Given the description of an element on the screen output the (x, y) to click on. 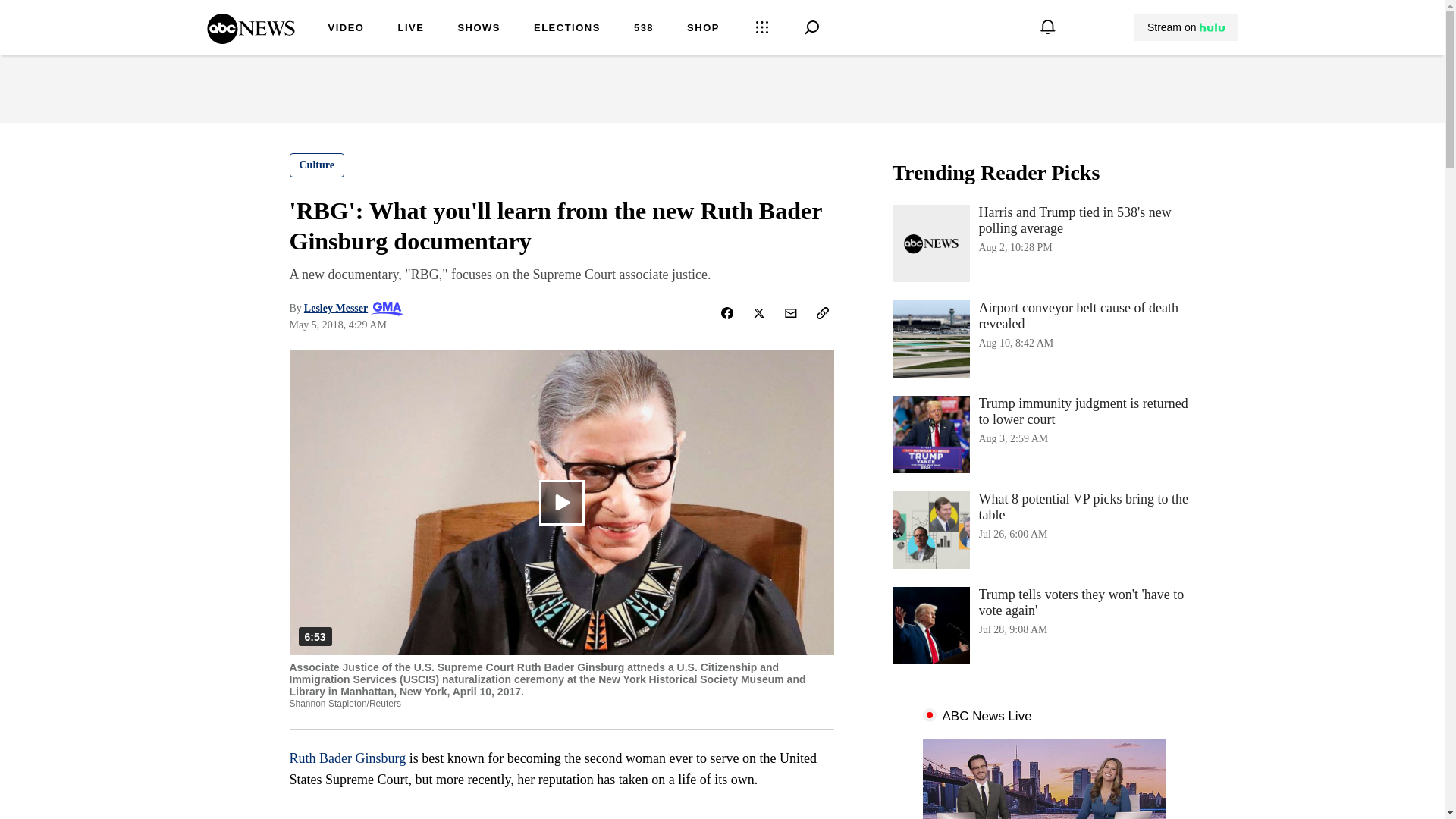
ELECTIONS (566, 28)
Stream on (1185, 27)
SHOP (703, 28)
LIVE (410, 28)
SHOWS (478, 28)
538 (643, 28)
ABC News (250, 38)
